Given the description of an element on the screen output the (x, y) to click on. 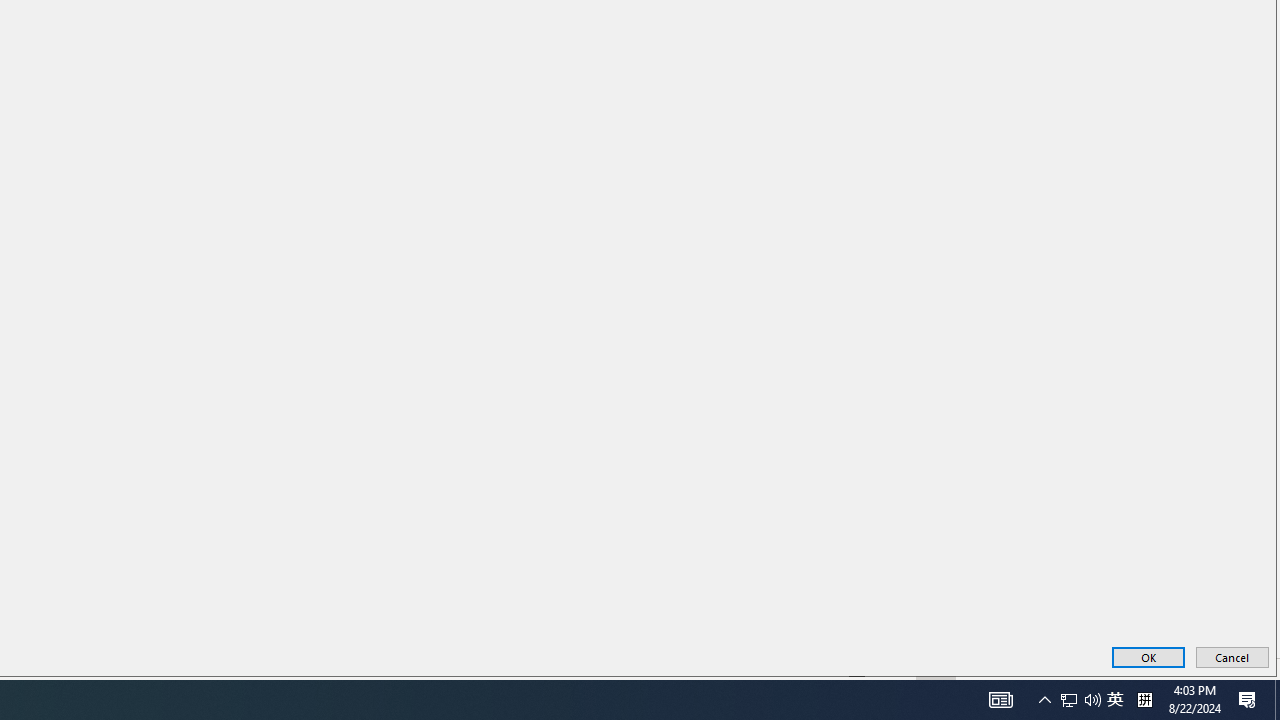
OK (1148, 656)
Cancel (1232, 656)
